Given the description of an element on the screen output the (x, y) to click on. 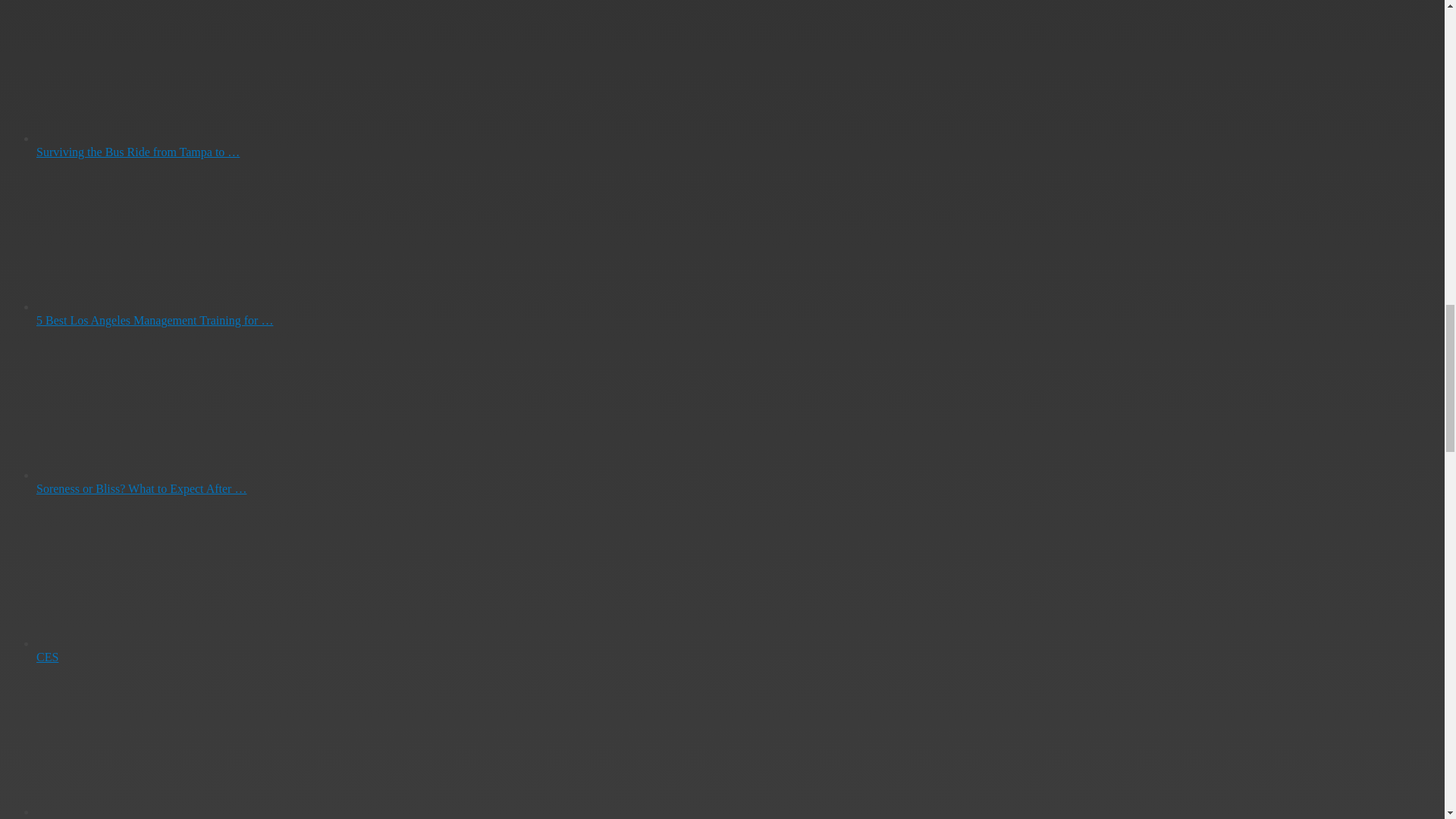
CES (47, 656)
